Given the description of an element on the screen output the (x, y) to click on. 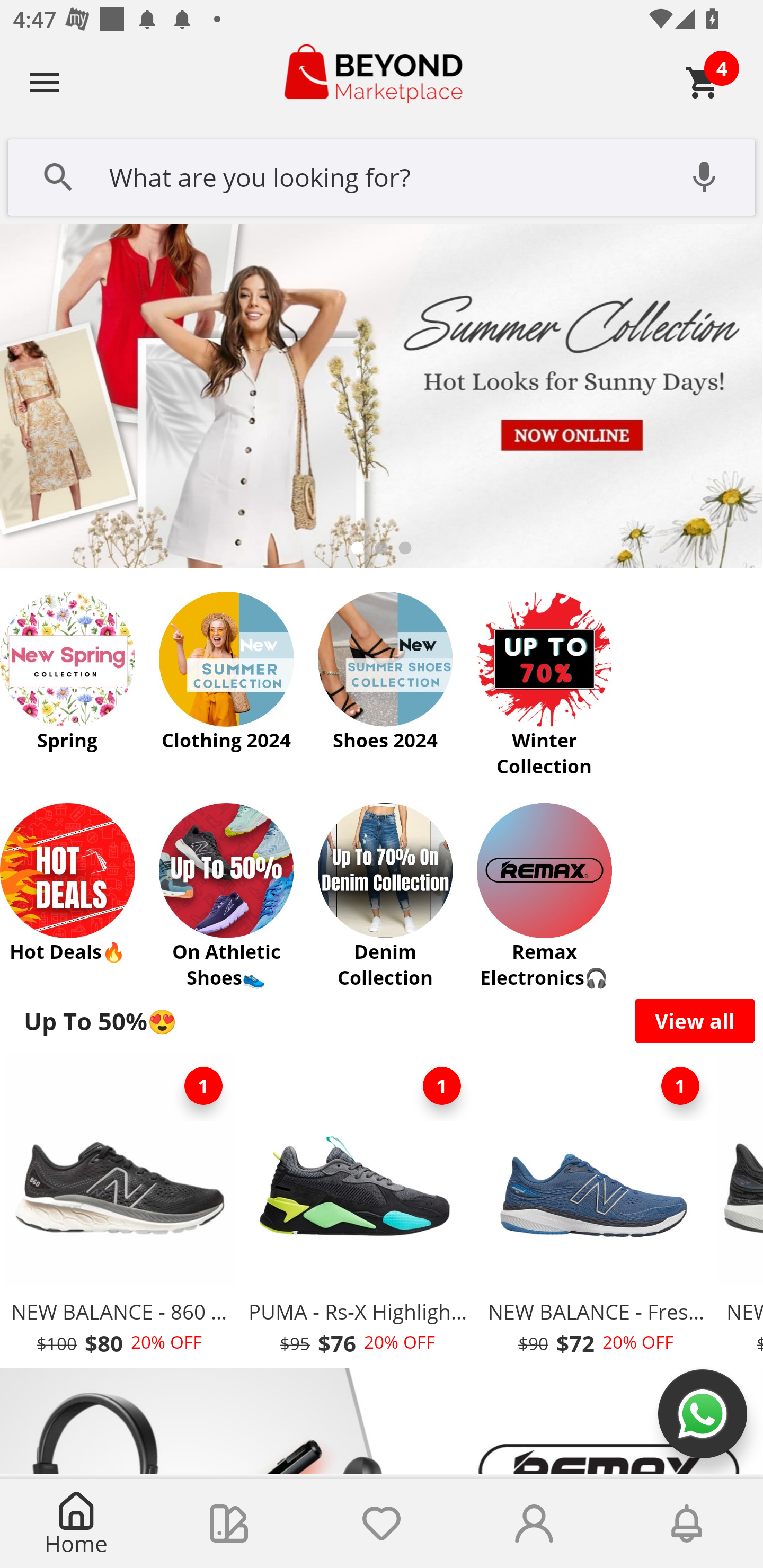
Navigate up (44, 82)
What are you looking for? (381, 175)
View all (694, 1020)
1 NEW BALANCE - 860 Running Shoes $100 $80 20% OFF (119, 1209)
1 (203, 1085)
1 (441, 1085)
1 (680, 1085)
Collections (228, 1523)
Wishlist (381, 1523)
Account (533, 1523)
Notifications (686, 1523)
